Given the description of an element on the screen output the (x, y) to click on. 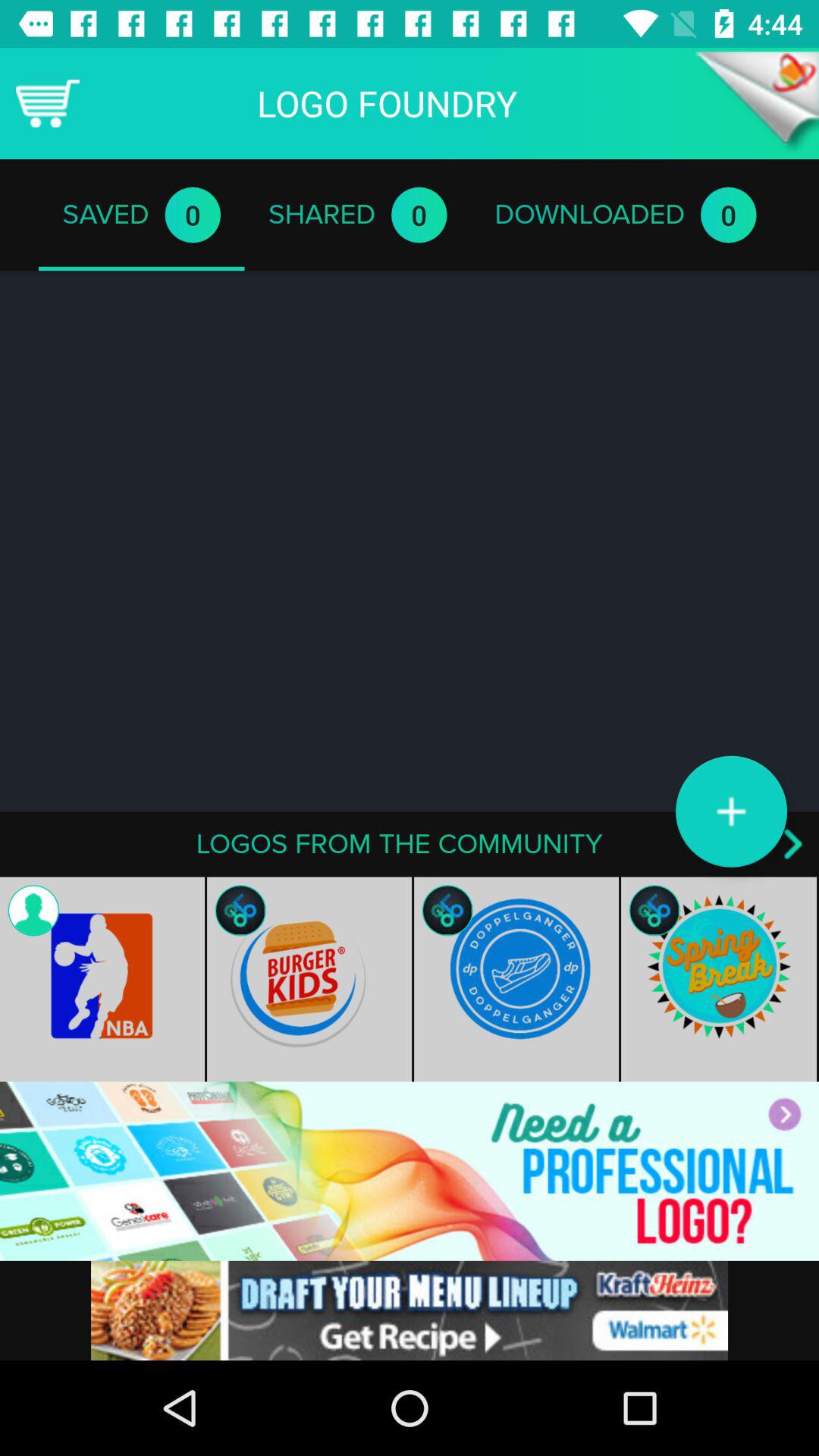
go to advertisement (409, 1310)
